Given the description of an element on the screen output the (x, y) to click on. 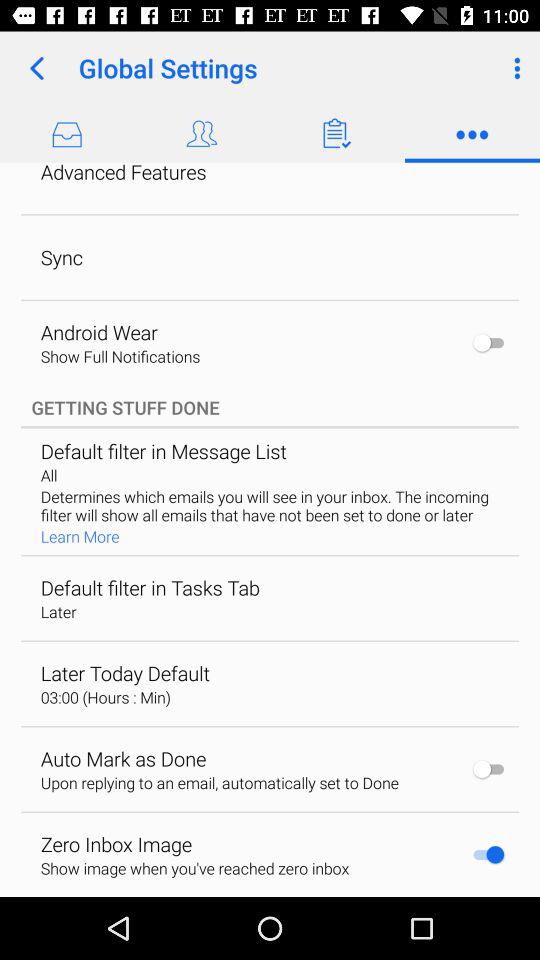
choose icon to the left of the global settings icon (36, 68)
